Given the description of an element on the screen output the (x, y) to click on. 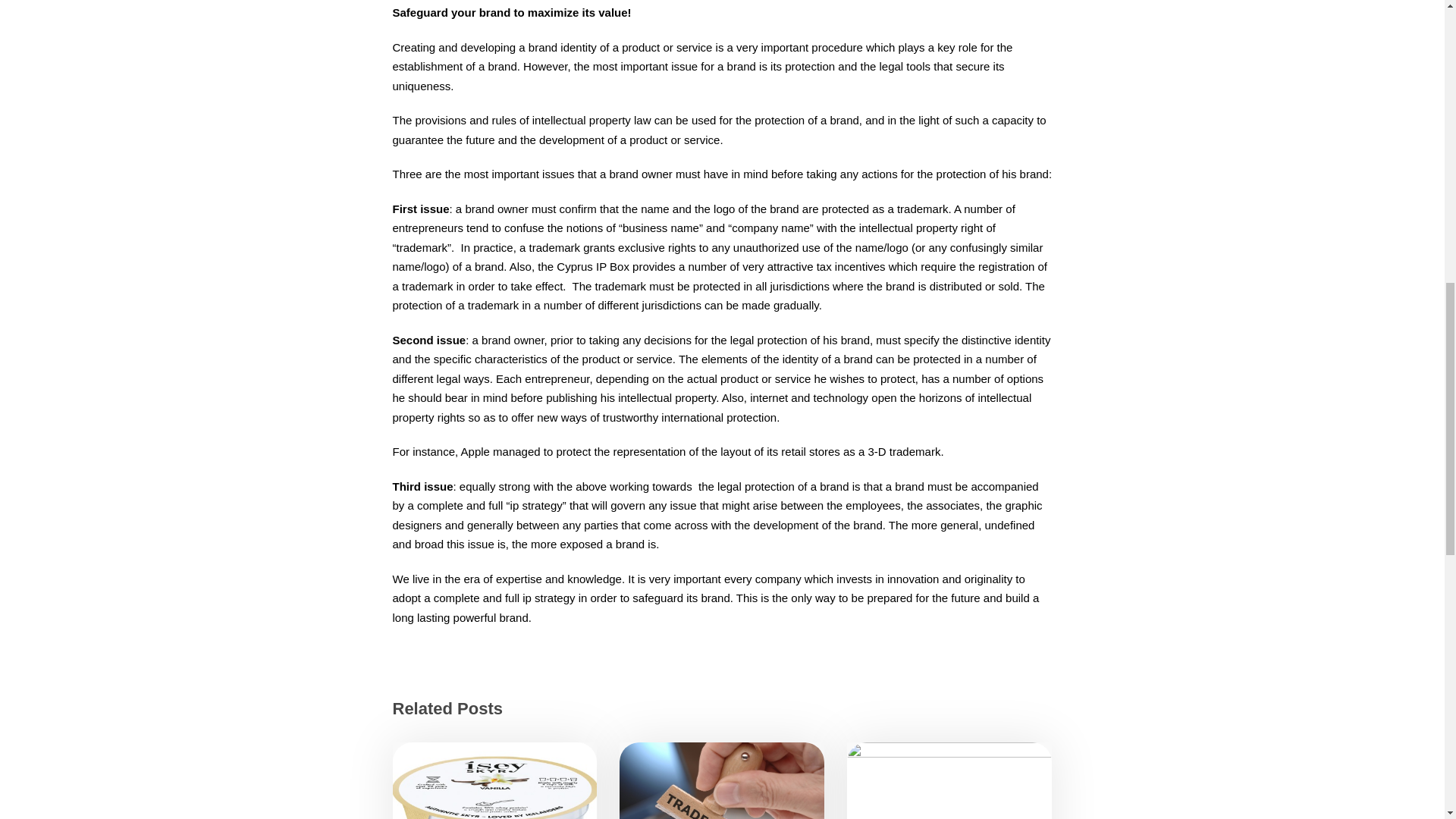
isey skyr (494, 780)
BIG MAC (949, 780)
mark mark (722, 780)
